Given the description of an element on the screen output the (x, y) to click on. 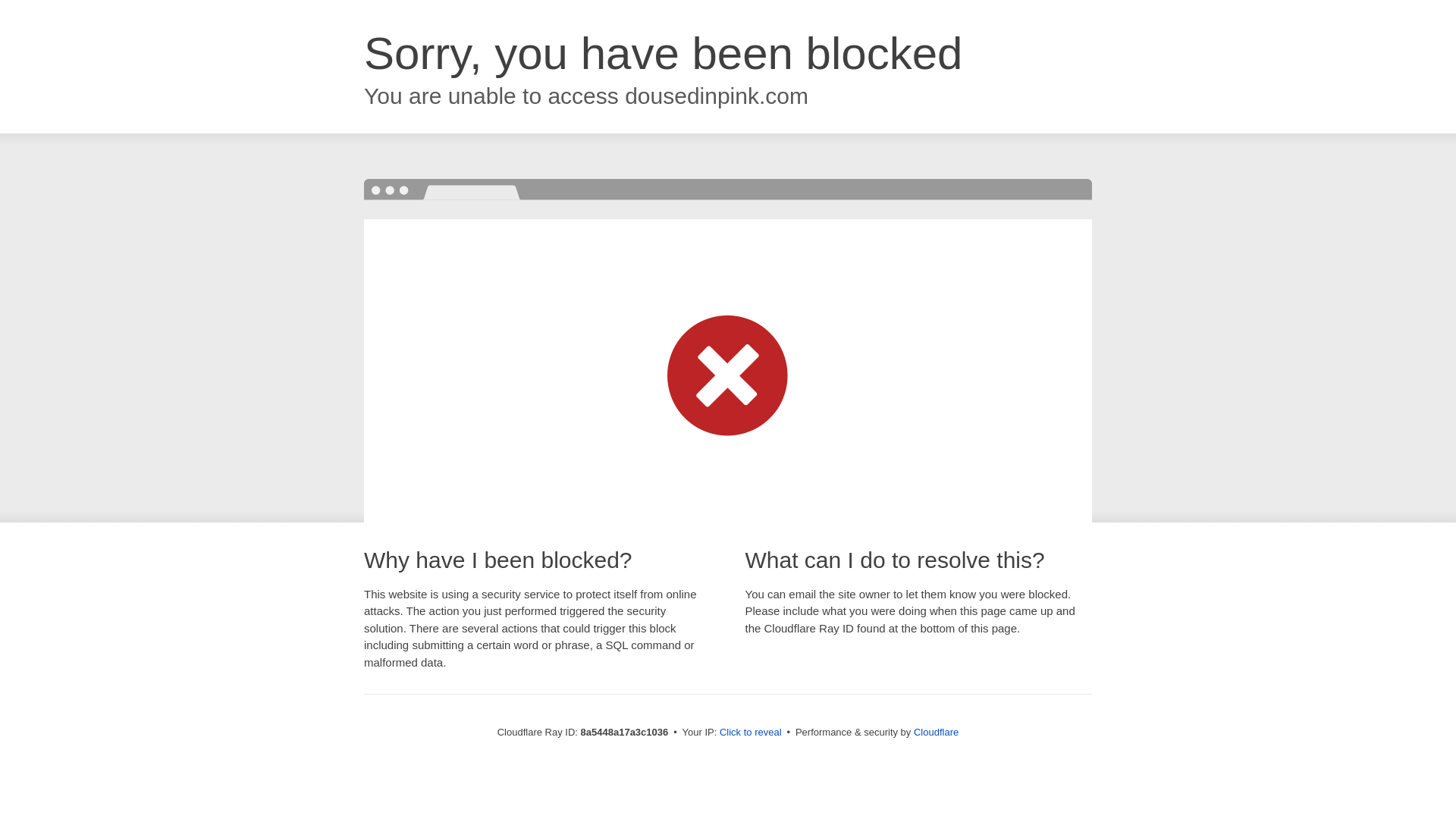
Click to reveal (750, 732)
Cloudflare (936, 731)
